Given the description of an element on the screen output the (x, y) to click on. 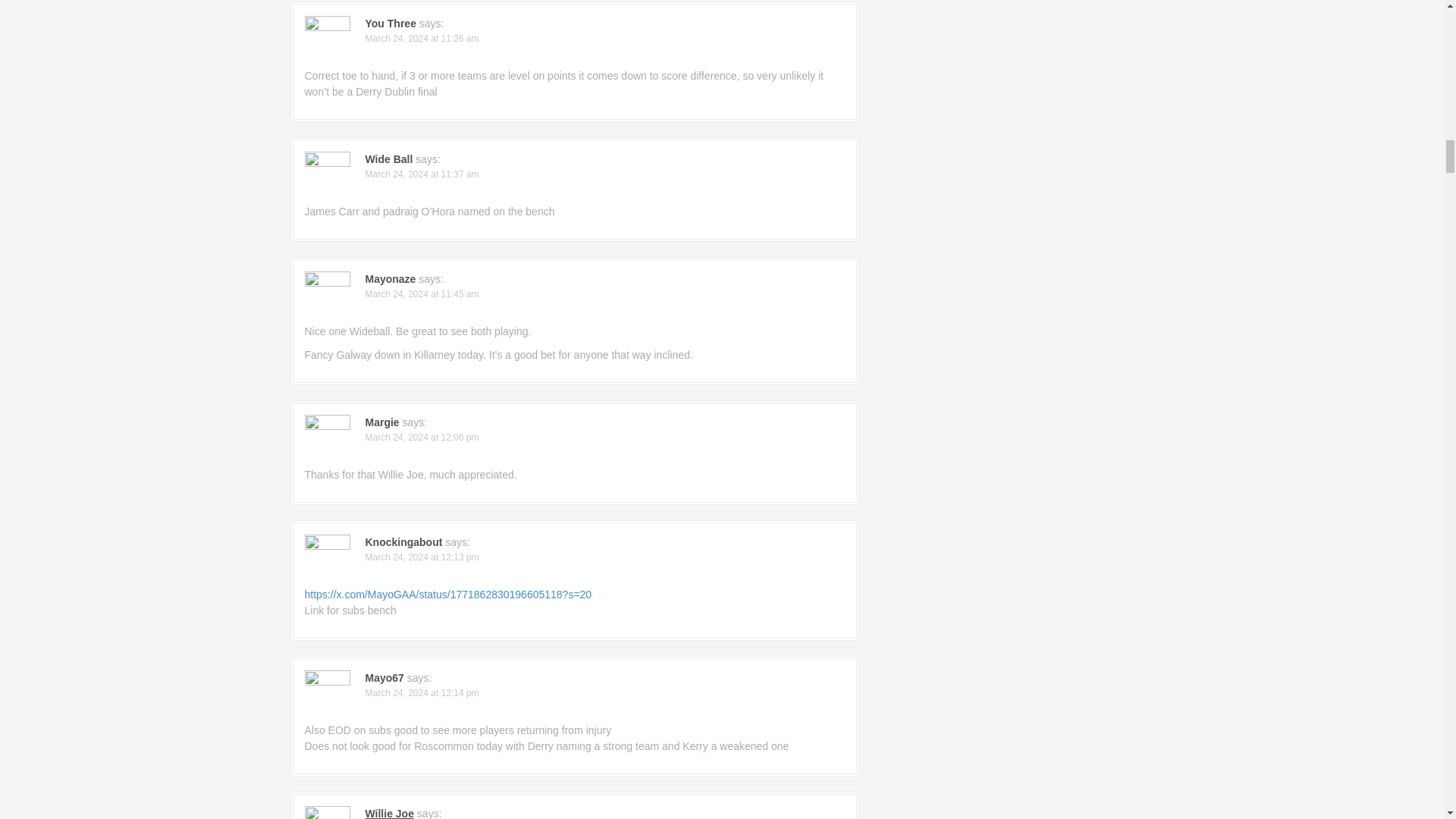
March 24, 2024 at 12:13 pm (422, 557)
Willie Joe (389, 813)
March 24, 2024 at 12:14 pm (422, 692)
March 24, 2024 at 11:37 am (422, 173)
March 24, 2024 at 12:06 pm (422, 437)
March 24, 2024 at 11:45 am (422, 294)
March 24, 2024 at 11:26 am (422, 38)
